Given the description of an element on the screen output the (x, y) to click on. 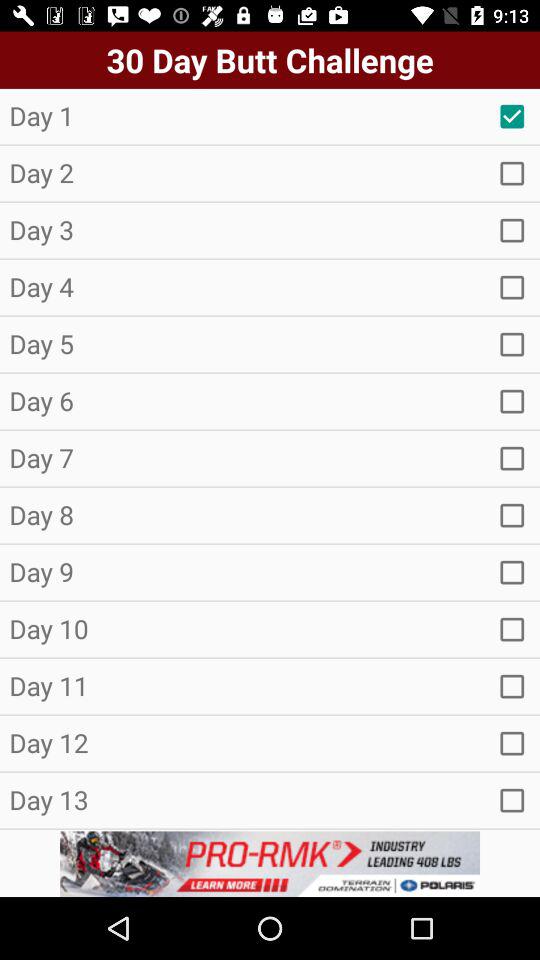
selection box (512, 116)
